Given the description of an element on the screen output the (x, y) to click on. 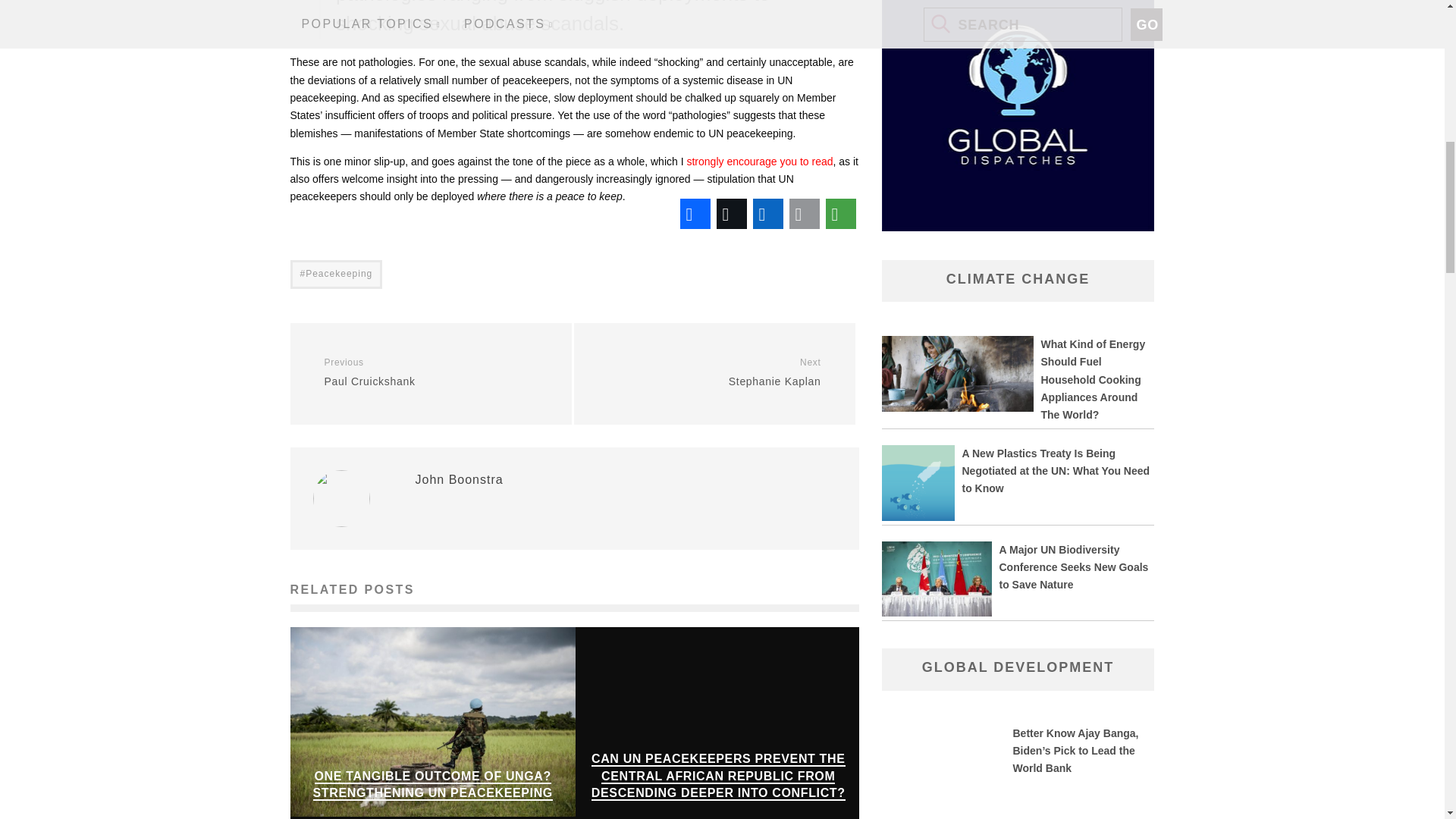
More Options (840, 213)
Facebook (695, 213)
Email This (804, 213)
strongly encourage you to read (758, 161)
LinkedIn (767, 213)
